Given the description of an element on the screen output the (x, y) to click on. 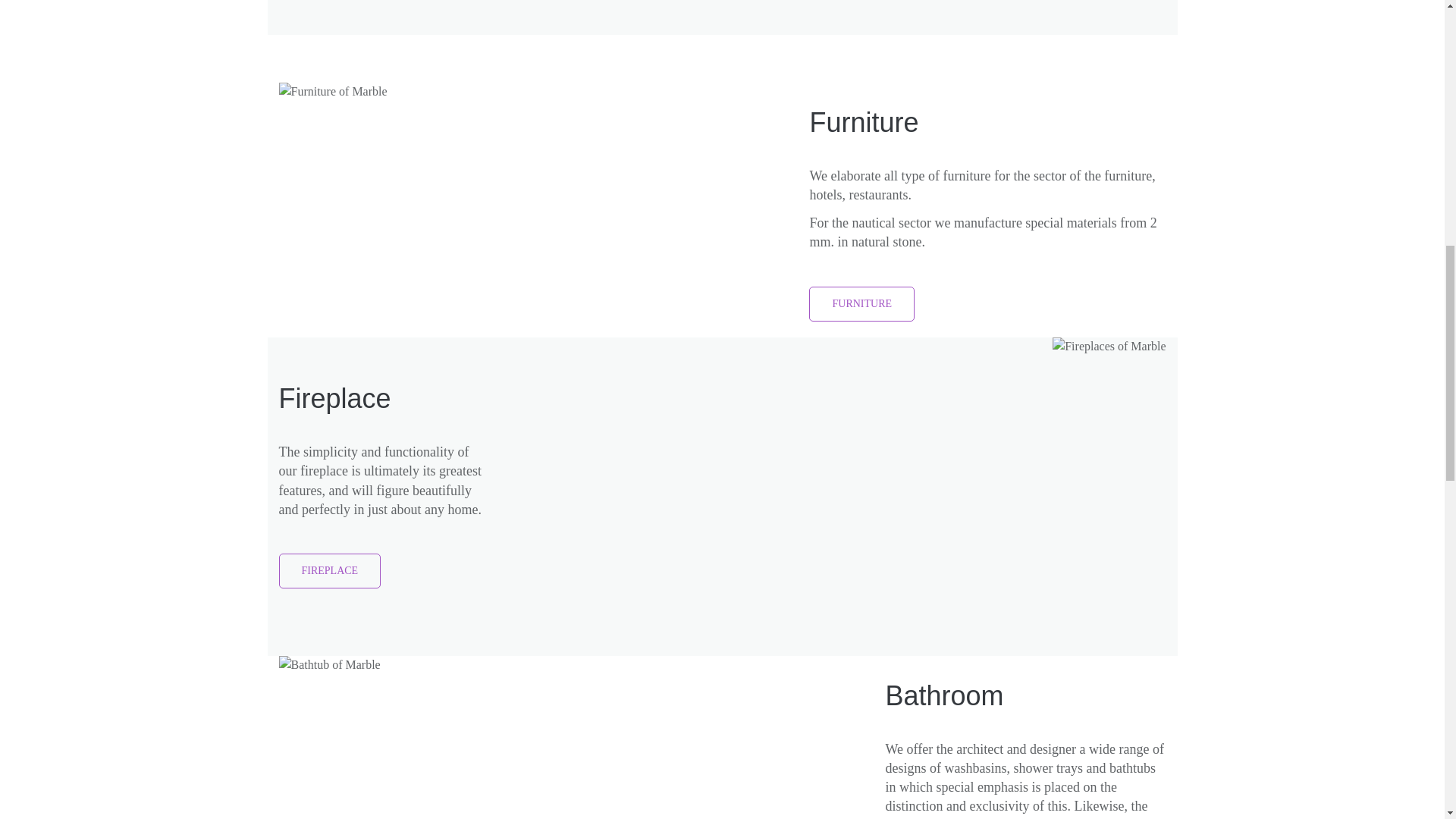
Furniture (333, 91)
Products (861, 303)
Fireplaces (1109, 346)
Bathroom (329, 665)
